Given the description of an element on the screen output the (x, y) to click on. 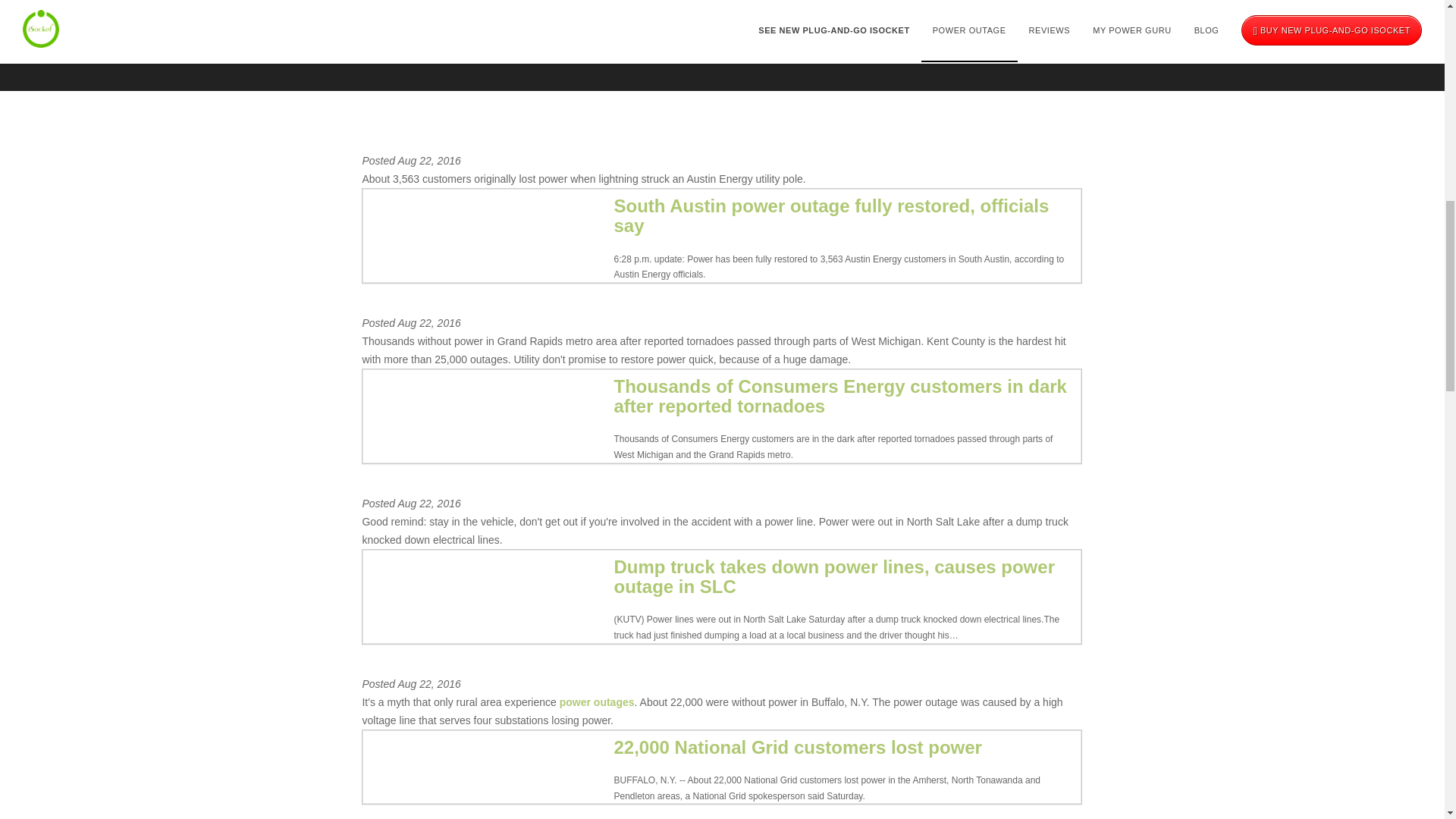
South Austin power outage fully restored, officials say (830, 215)
22,000 National Grid customers lost power (796, 747)
power outages (596, 702)
